Given the description of an element on the screen output the (x, y) to click on. 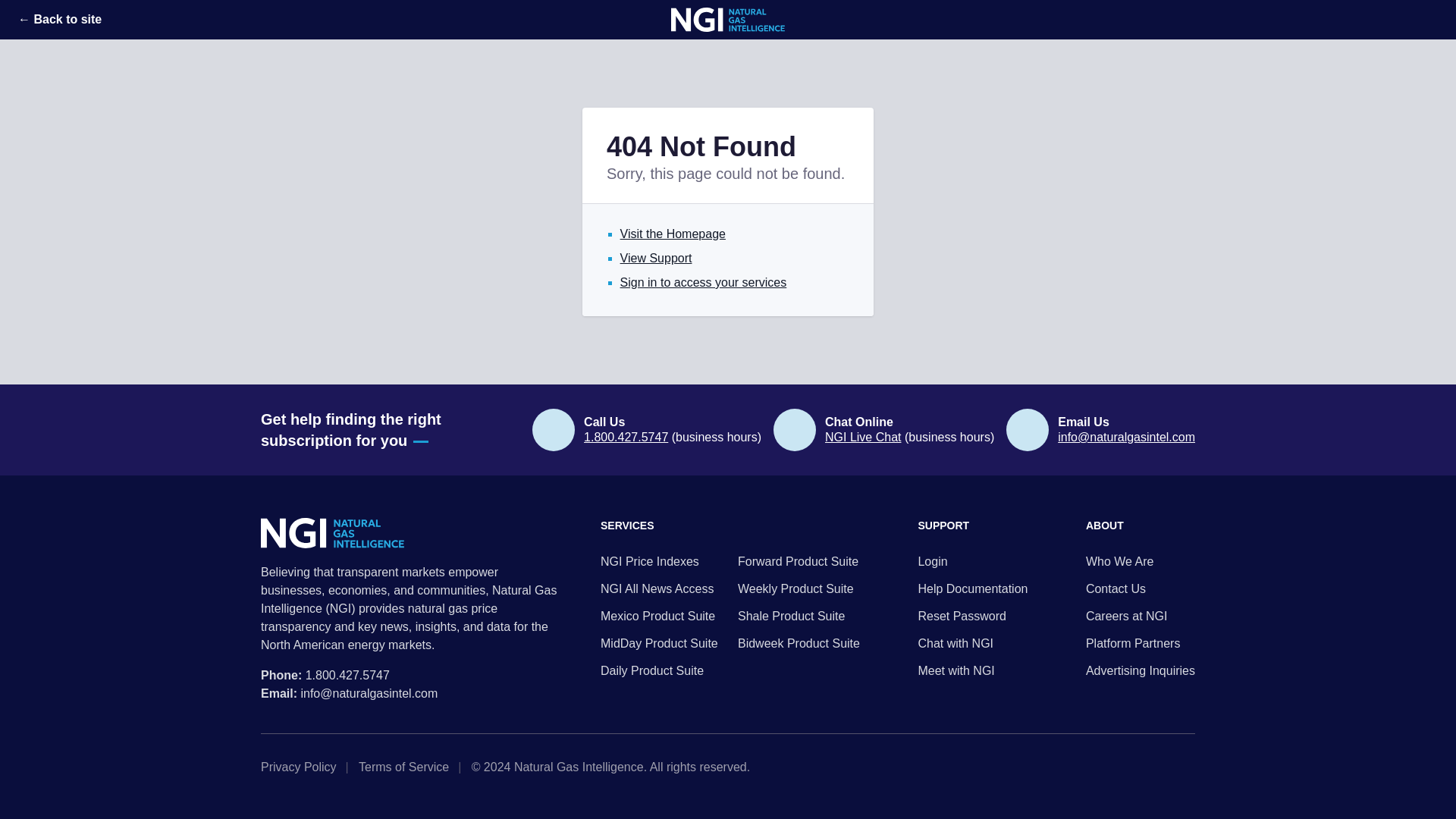
NGI Price Indexes (660, 561)
Mexico Product Suite (660, 616)
MidDay Product Suite (660, 643)
Shale Product Suite (799, 616)
View Support (656, 257)
LinkedIn (1164, 766)
Advertising Inquiries (1140, 670)
Daily Product Suite (660, 670)
Weekly Product Suite (799, 588)
Login (972, 561)
